Given the description of an element on the screen output the (x, y) to click on. 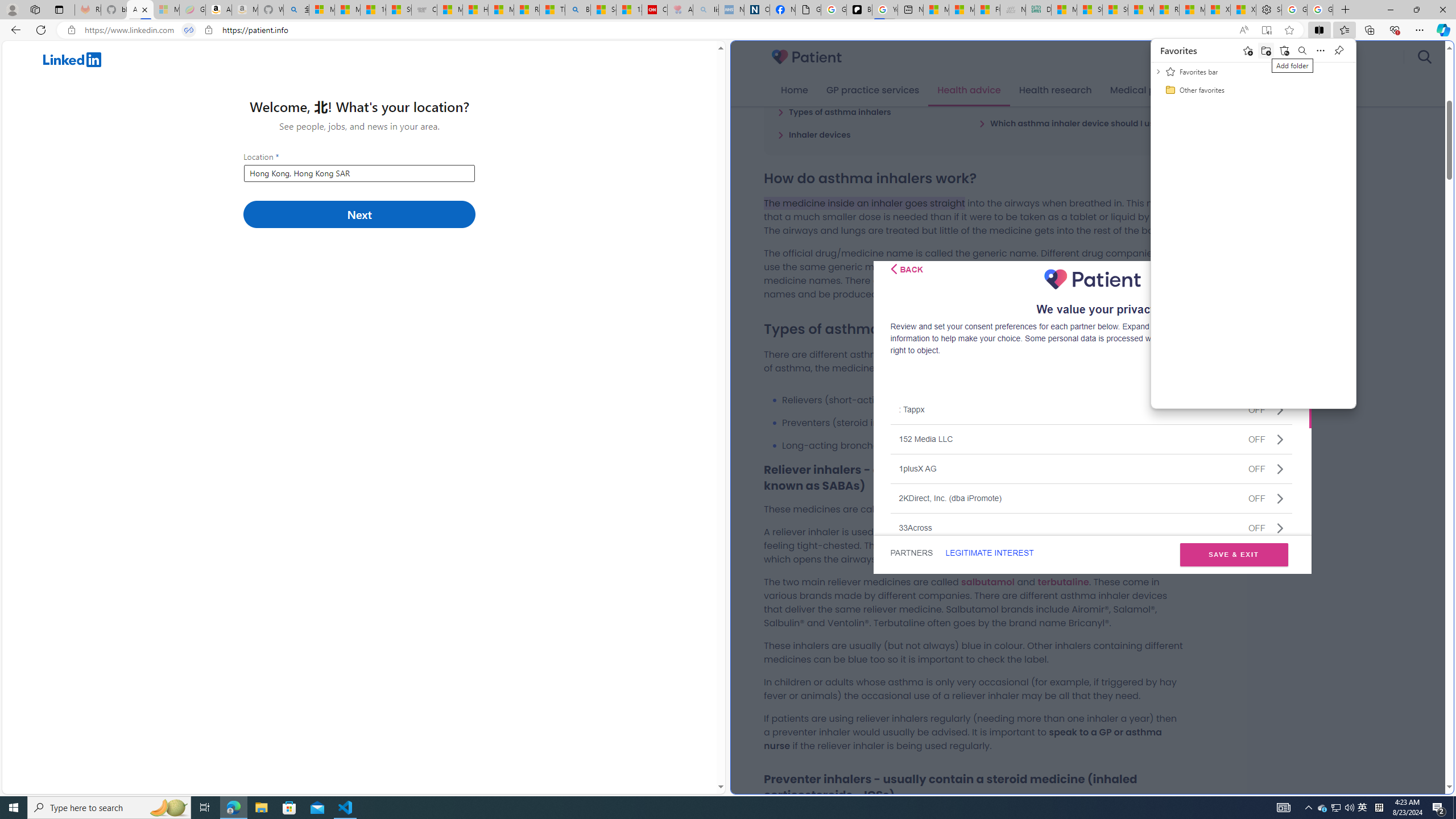
Add this page to favorites (1247, 49)
Class: css-i5klq5 (892, 268)
SAVE & EXIT (1233, 554)
search (1424, 56)
Health advice (1362, 807)
